Given the description of an element on the screen output the (x, y) to click on. 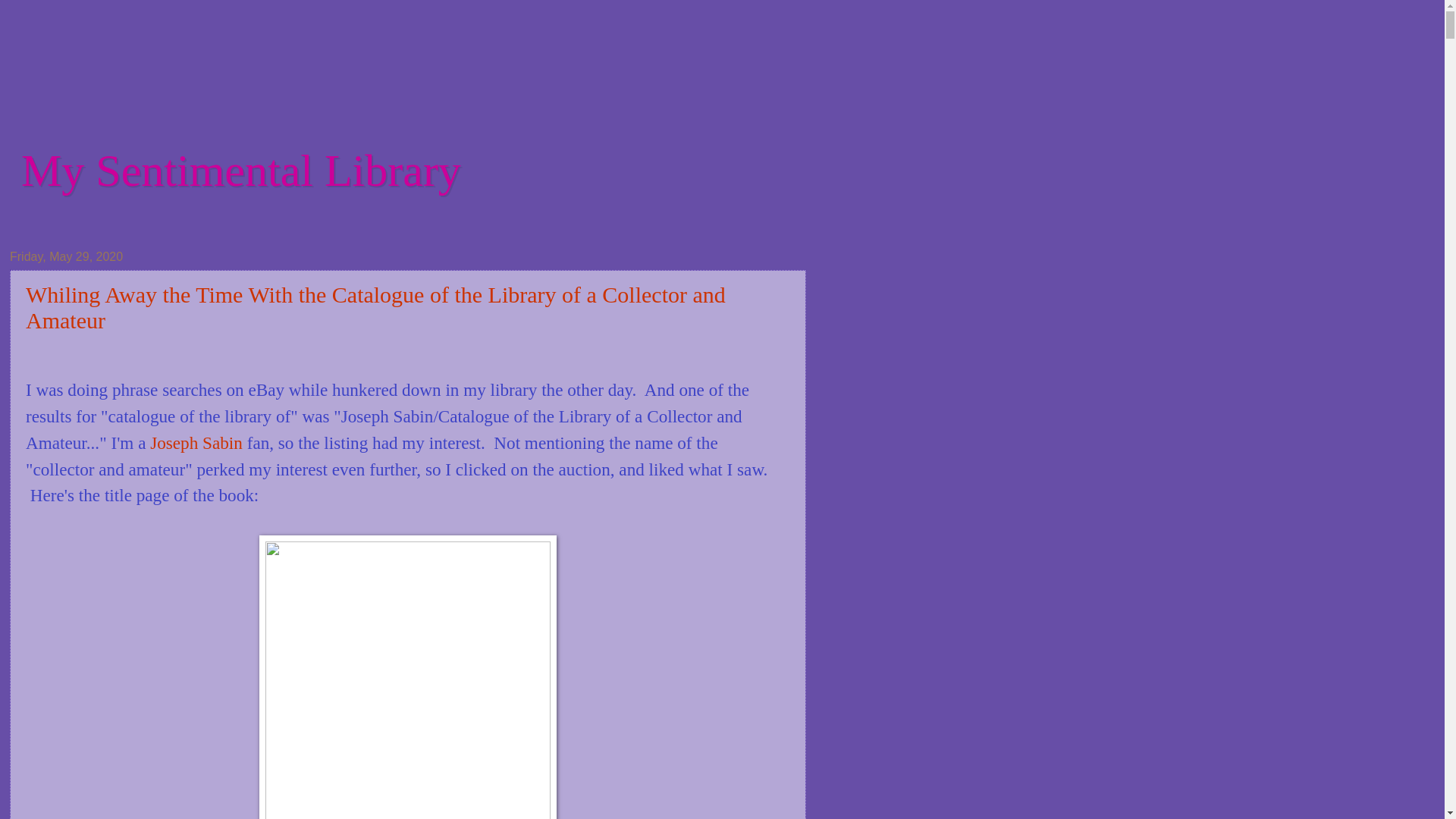
My Sentimental Library (241, 170)
Joseph Sabin (196, 442)
